Given the description of an element on the screen output the (x, y) to click on. 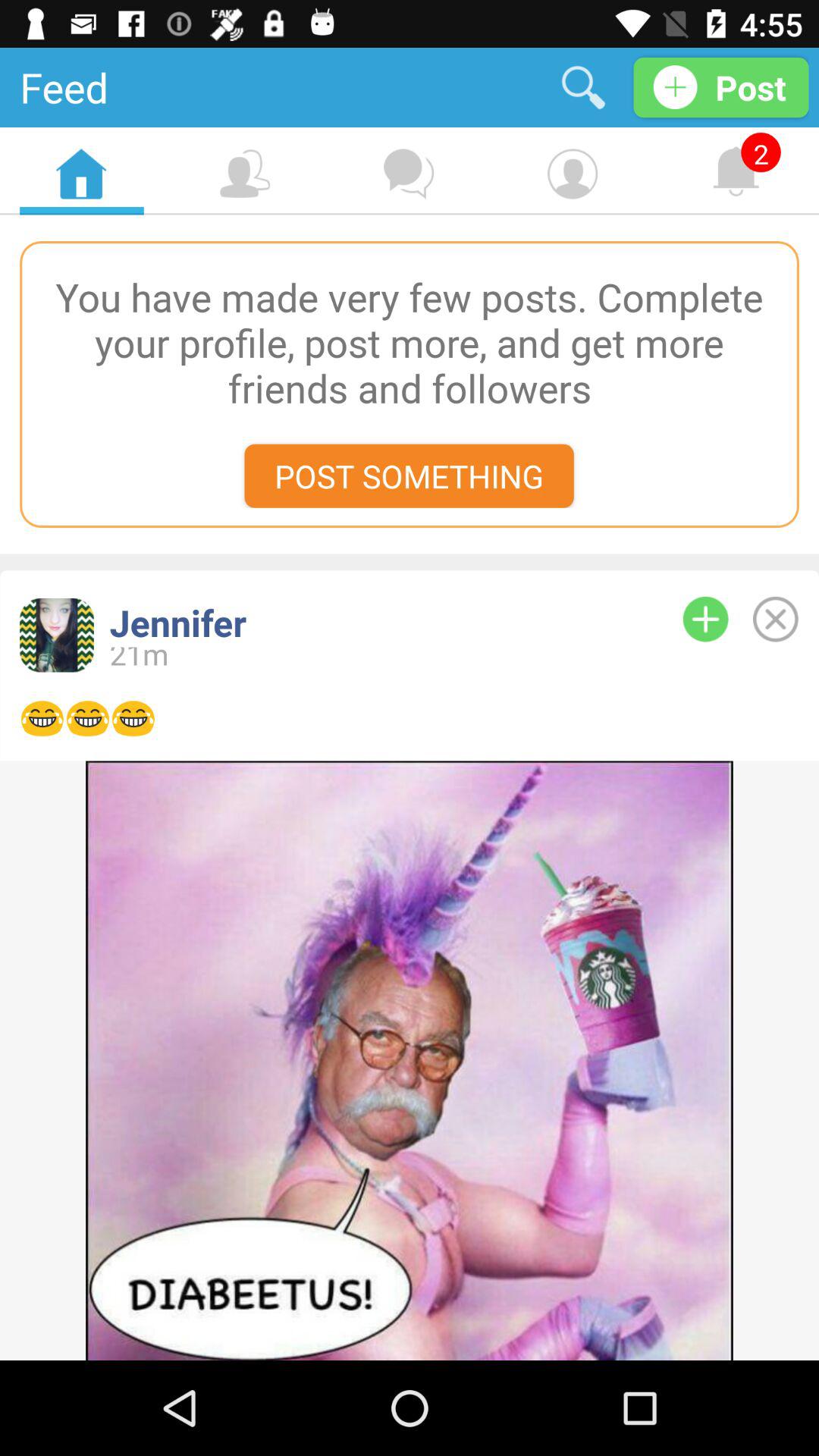
choose the icon next to post item (583, 87)
